Given the description of an element on the screen output the (x, y) to click on. 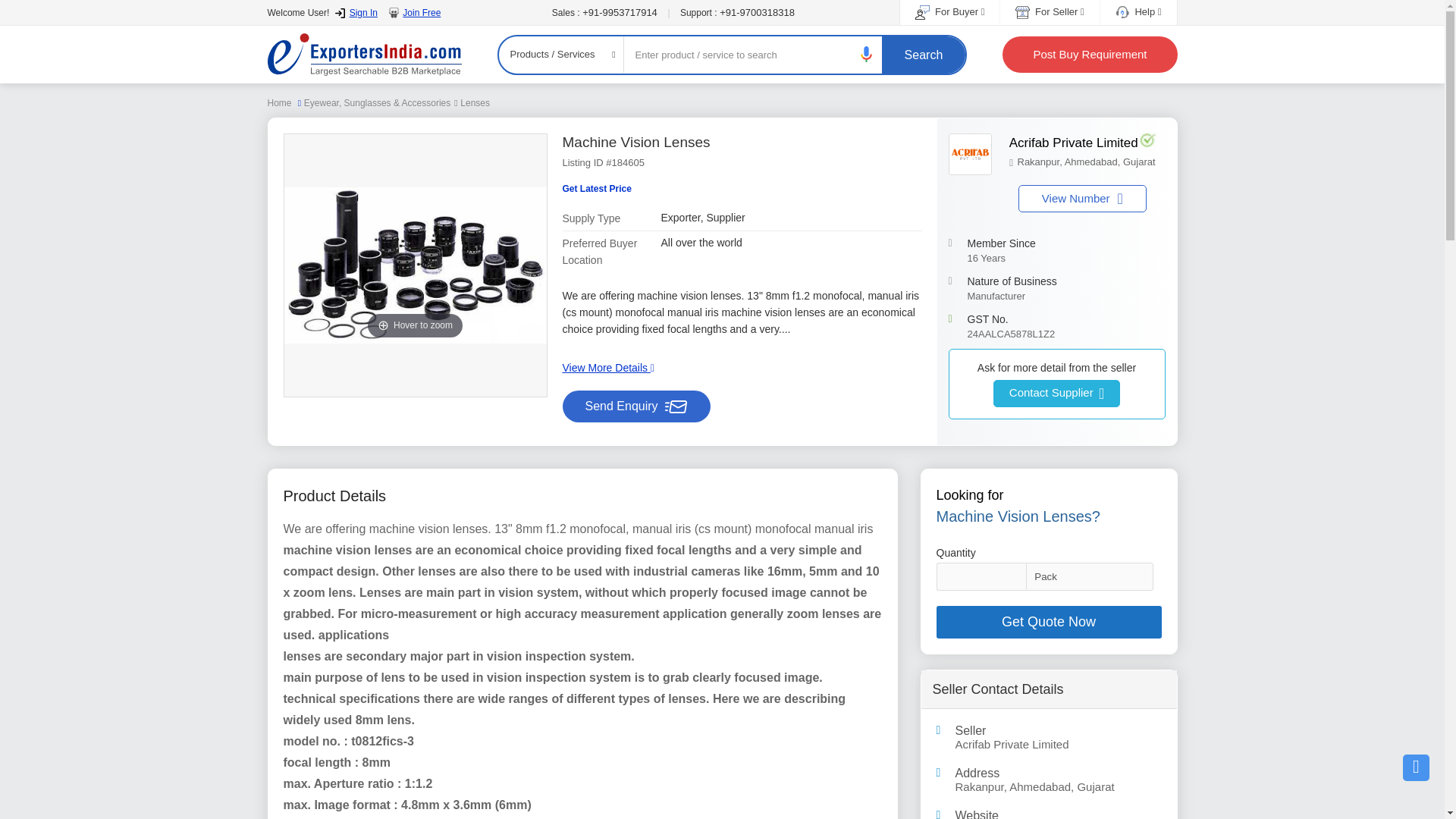
Contact Supplier (1055, 393)
Search (924, 54)
Get Quote Now (1048, 622)
View More Details (608, 367)
Post Buy Requirement (1089, 54)
Exporters India (363, 54)
Login to Exportersindia (1081, 151)
View Number (355, 12)
Home (1082, 198)
Get Latest Price (278, 102)
Join Exportersindia Free (596, 189)
For Seller (414, 12)
Acrifab Private Limited (1048, 11)
Pack (1058, 744)
